Given the description of an element on the screen output the (x, y) to click on. 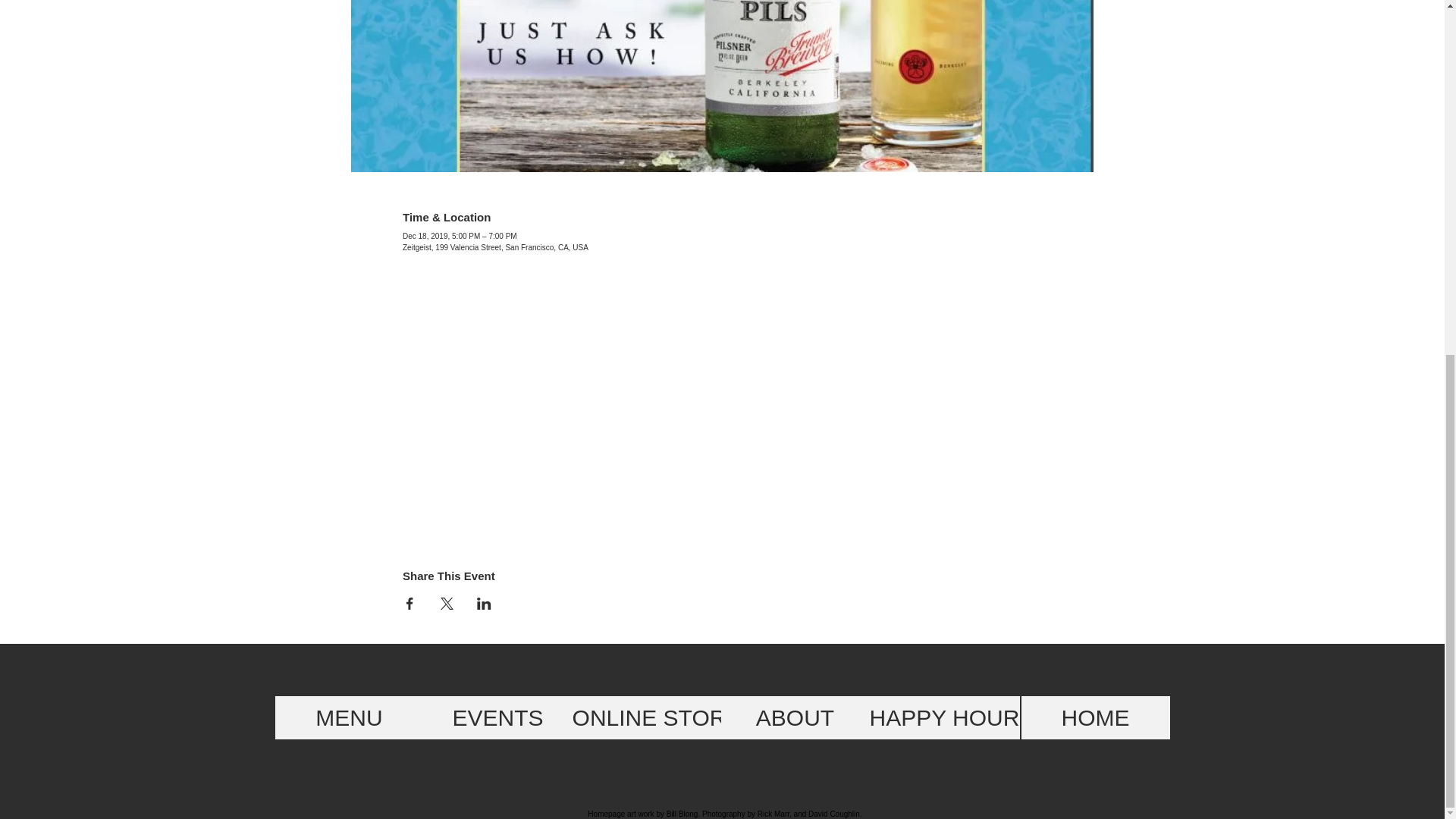
ABOUT (794, 717)
HOME (1094, 717)
EVENTS (497, 717)
ONLINE STORE (656, 717)
HAPPY HOUR (944, 717)
MENU (349, 717)
